Given the description of an element on the screen output the (x, y) to click on. 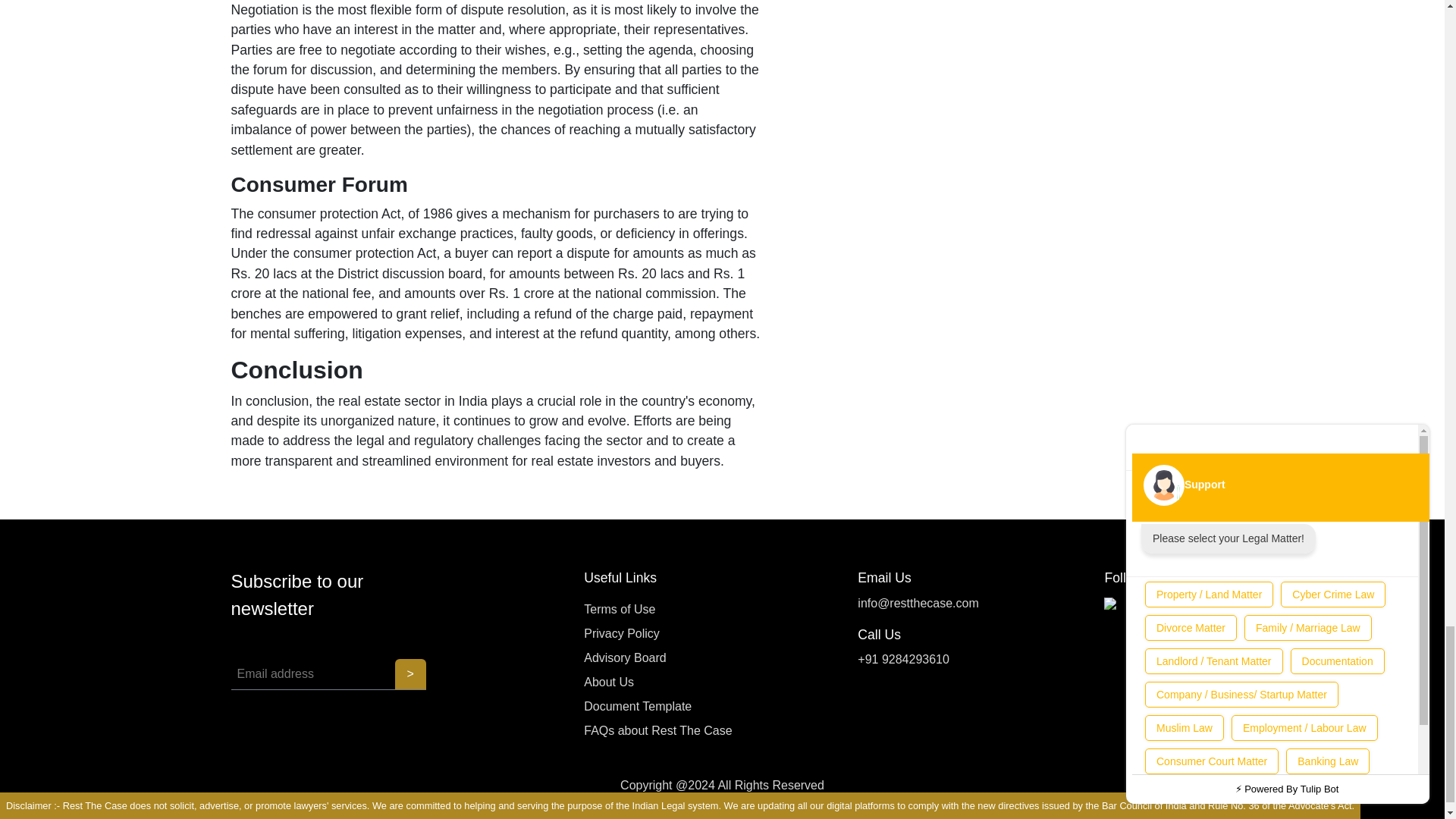
Terms of Use (657, 609)
Document Template (657, 706)
FAQs about Rest The Case (657, 730)
About Us (657, 682)
Advisory Board (657, 658)
Privacy Policy (657, 633)
